Given the description of an element on the screen output the (x, y) to click on. 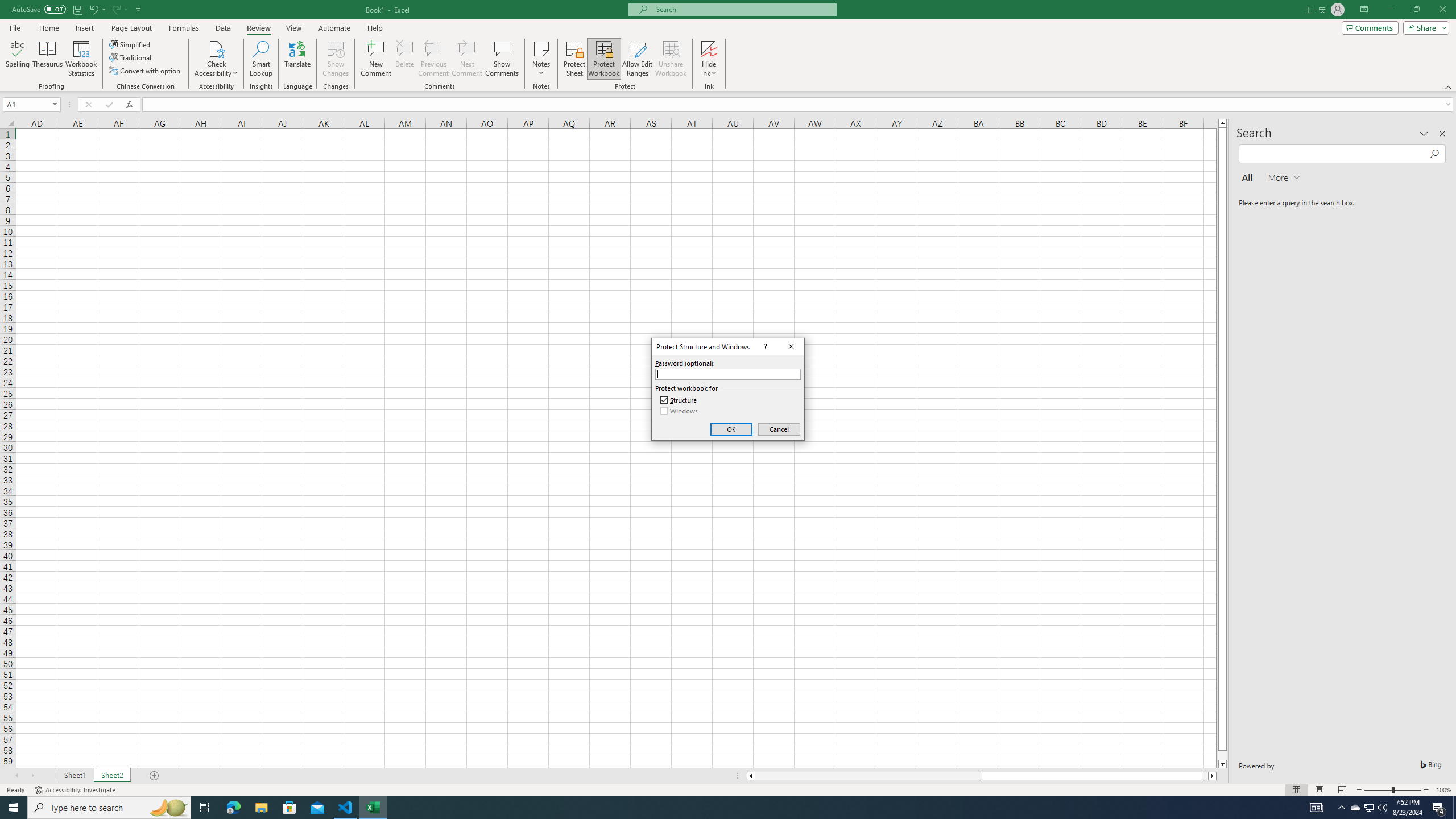
Restore Down (1416, 9)
